Given the description of an element on the screen output the (x, y) to click on. 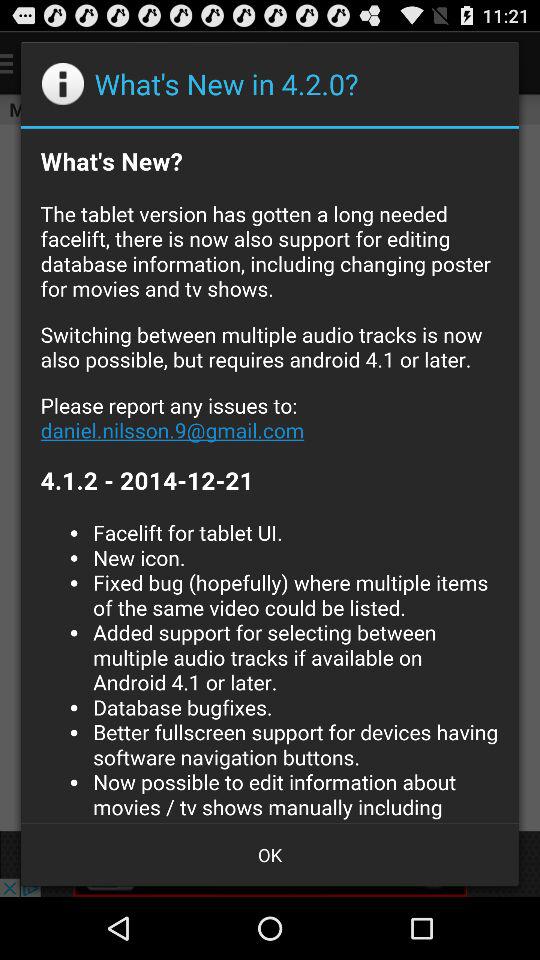
advertisement page (270, 475)
